Given the description of an element on the screen output the (x, y) to click on. 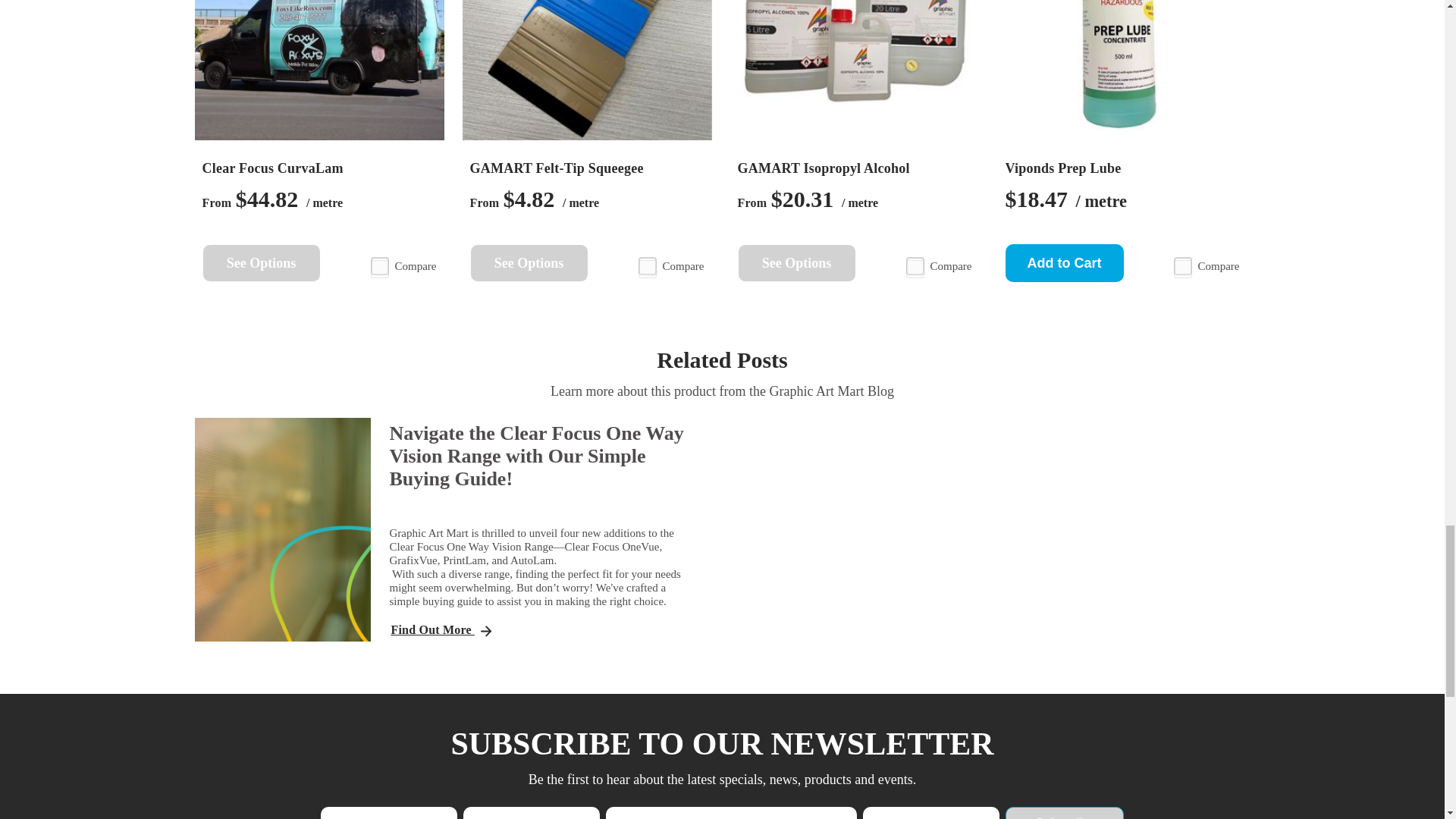
yes (914, 269)
yes (379, 269)
yes (1182, 269)
yes (647, 269)
